Given the description of an element on the screen output the (x, y) to click on. 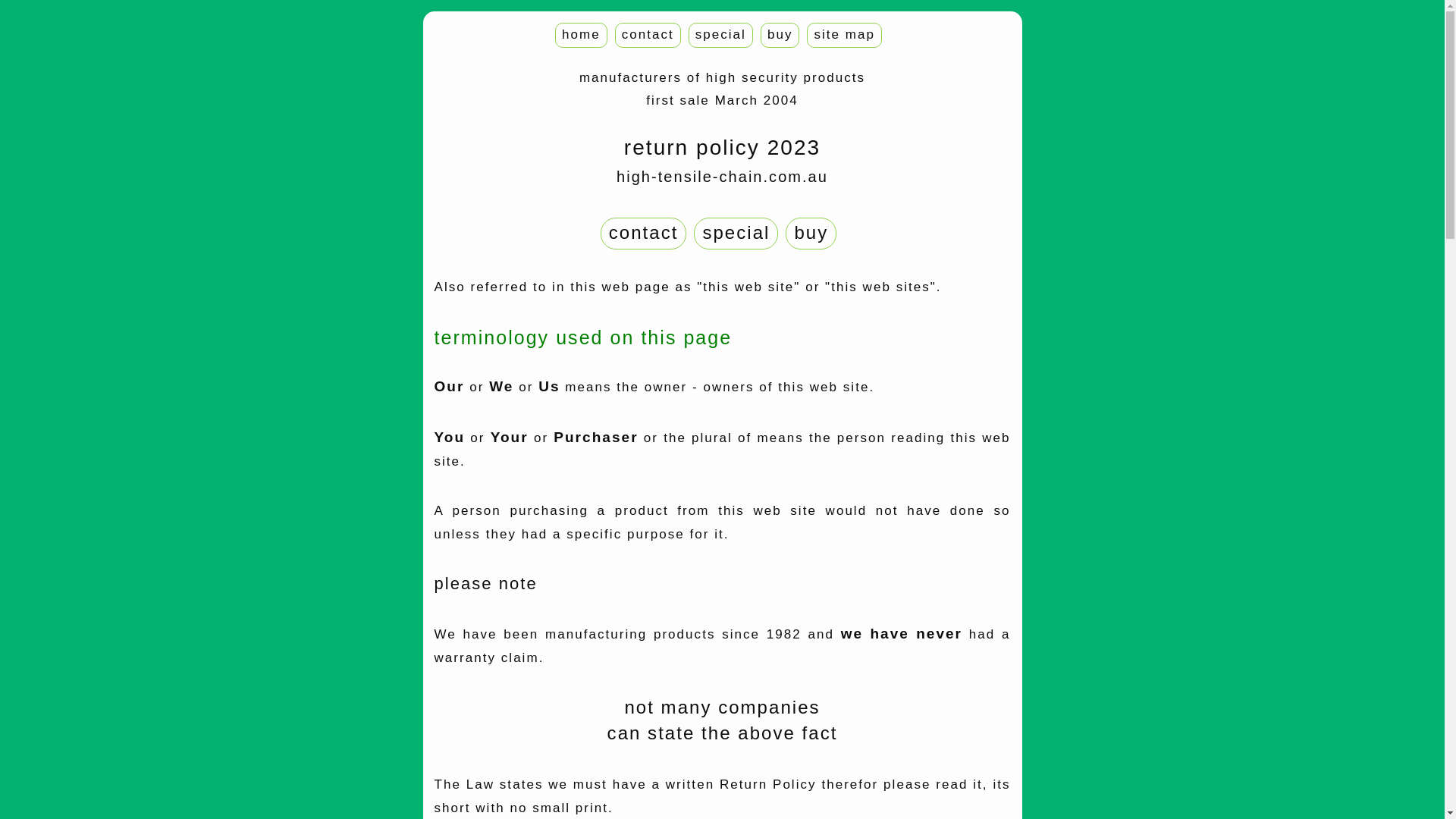
buy Element type: text (810, 232)
site map Element type: text (844, 34)
home Element type: text (580, 34)
special Element type: text (720, 34)
contact Element type: text (643, 232)
special Element type: text (735, 232)
contact Element type: text (647, 34)
buy Element type: text (780, 34)
